Given the description of an element on the screen output the (x, y) to click on. 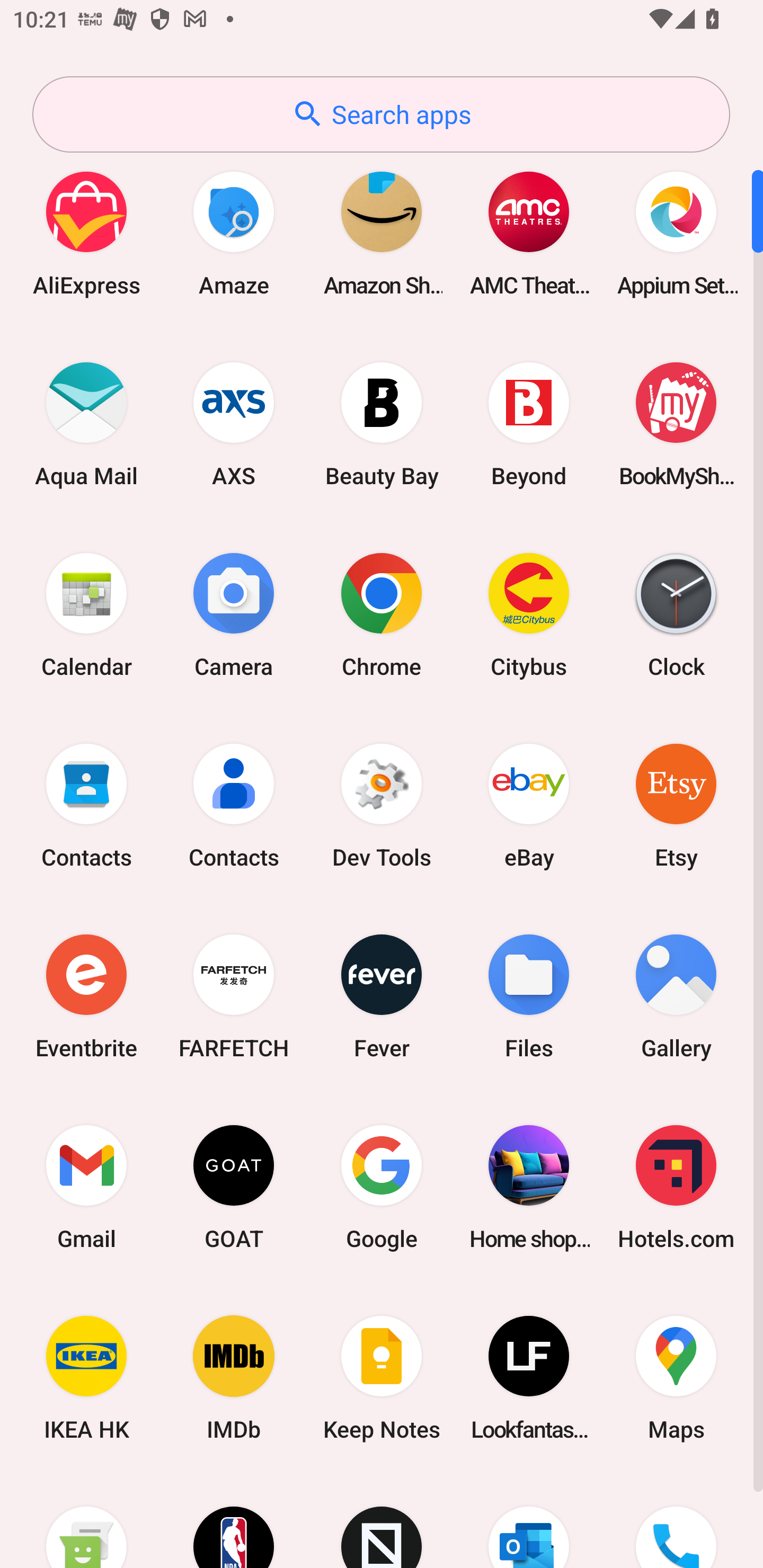
  Search apps (381, 114)
AliExpress (86, 233)
Amaze (233, 233)
Amazon Shopping (381, 233)
AMC Theatres (528, 233)
Appium Settings (676, 233)
Aqua Mail (86, 424)
AXS (233, 424)
Beauty Bay (381, 424)
Beyond (528, 424)
BookMyShow (676, 424)
Calendar (86, 614)
Camera (233, 614)
Chrome (381, 614)
Citybus (528, 614)
Clock (676, 614)
Contacts (86, 805)
Contacts (233, 805)
Dev Tools (381, 805)
eBay (528, 805)
Etsy (676, 805)
Eventbrite (86, 996)
FARFETCH (233, 996)
Fever (381, 996)
Files (528, 996)
Gallery (676, 996)
Gmail (86, 1186)
GOAT (233, 1186)
Google (381, 1186)
Home shopping (528, 1186)
Hotels.com (676, 1186)
IKEA HK (86, 1377)
IMDb (233, 1377)
Keep Notes (381, 1377)
Lookfantastic (528, 1377)
Maps (676, 1377)
